Given the description of an element on the screen output the (x, y) to click on. 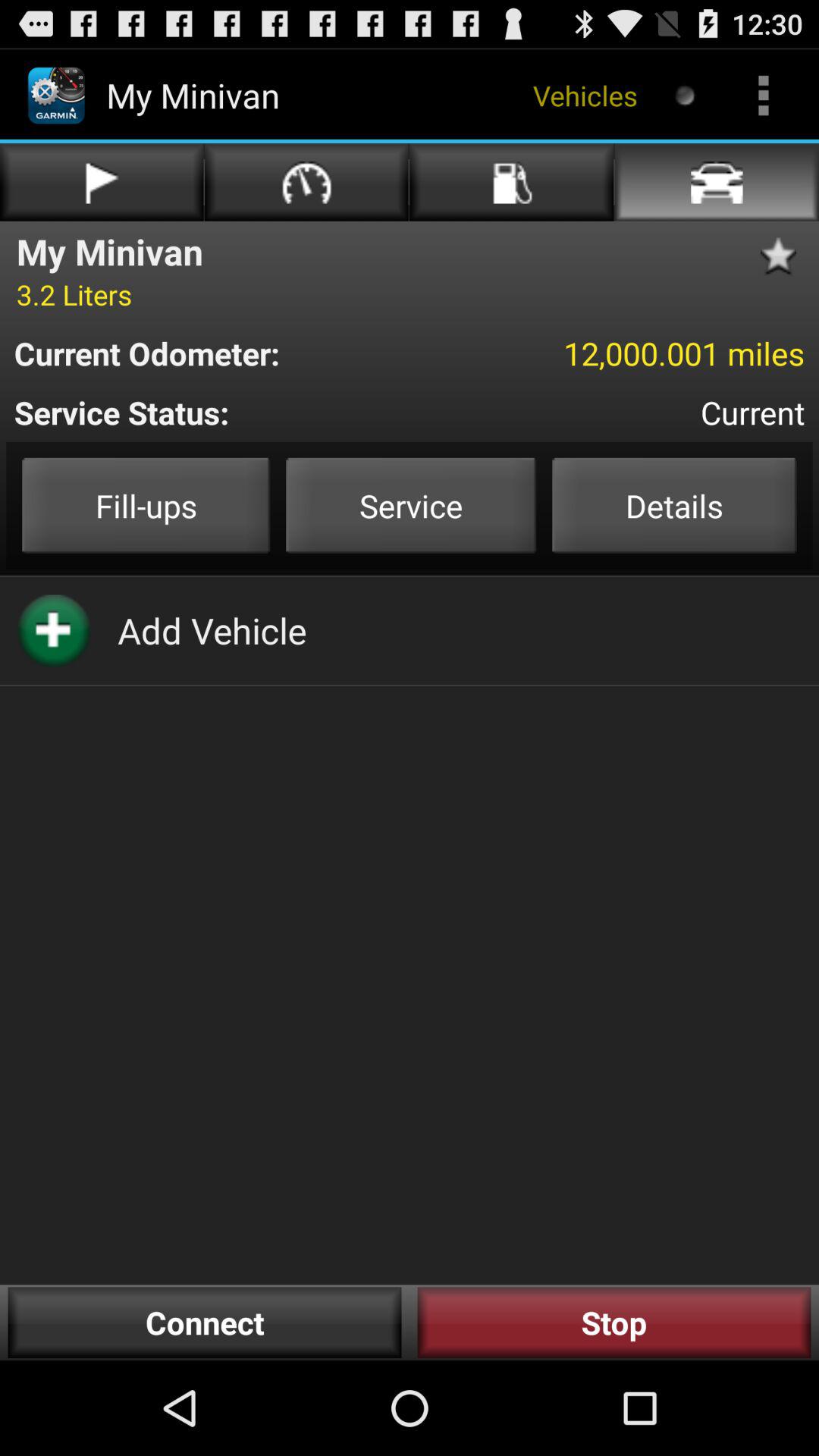
select item below my minivan item (73, 294)
